Given the description of an element on the screen output the (x, y) to click on. 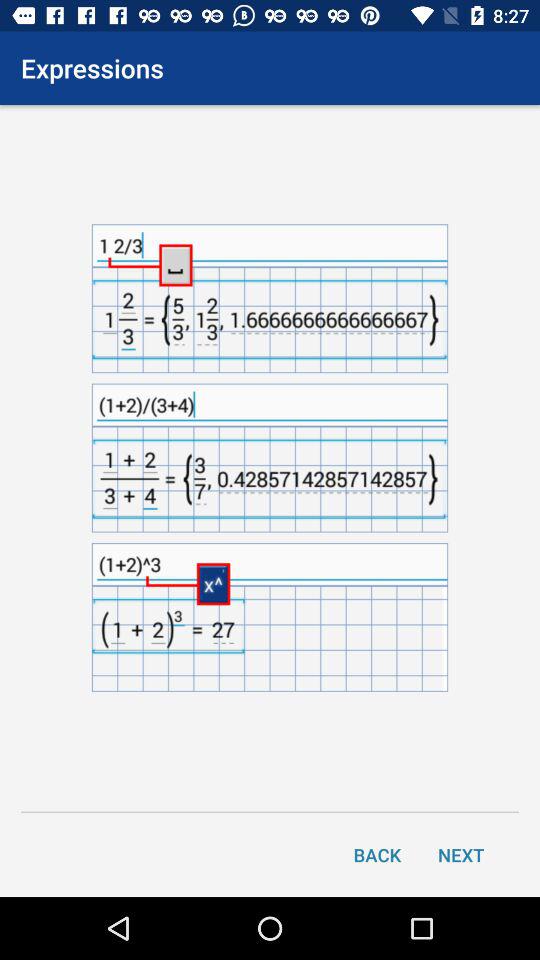
turn on the back icon (377, 854)
